Given the description of an element on the screen output the (x, y) to click on. 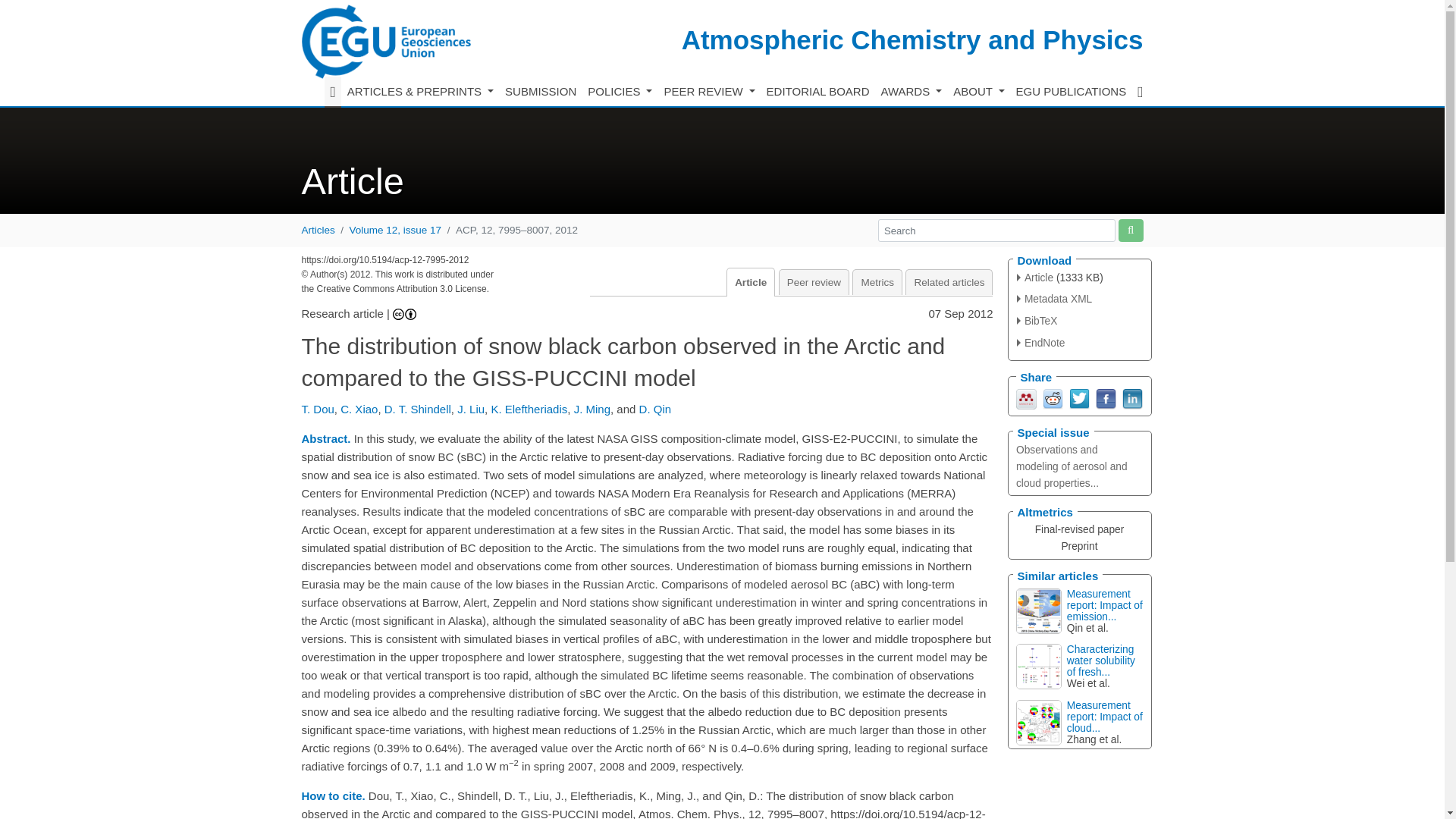
SUBMISSION (540, 91)
Atmospheric Chemistry and Physics (911, 39)
Twitter (1078, 397)
XML Version (1054, 298)
Reddit (1052, 397)
POLICIES (620, 91)
Start site search (1130, 229)
Mendeley (1026, 397)
